Given the description of an element on the screen output the (x, y) to click on. 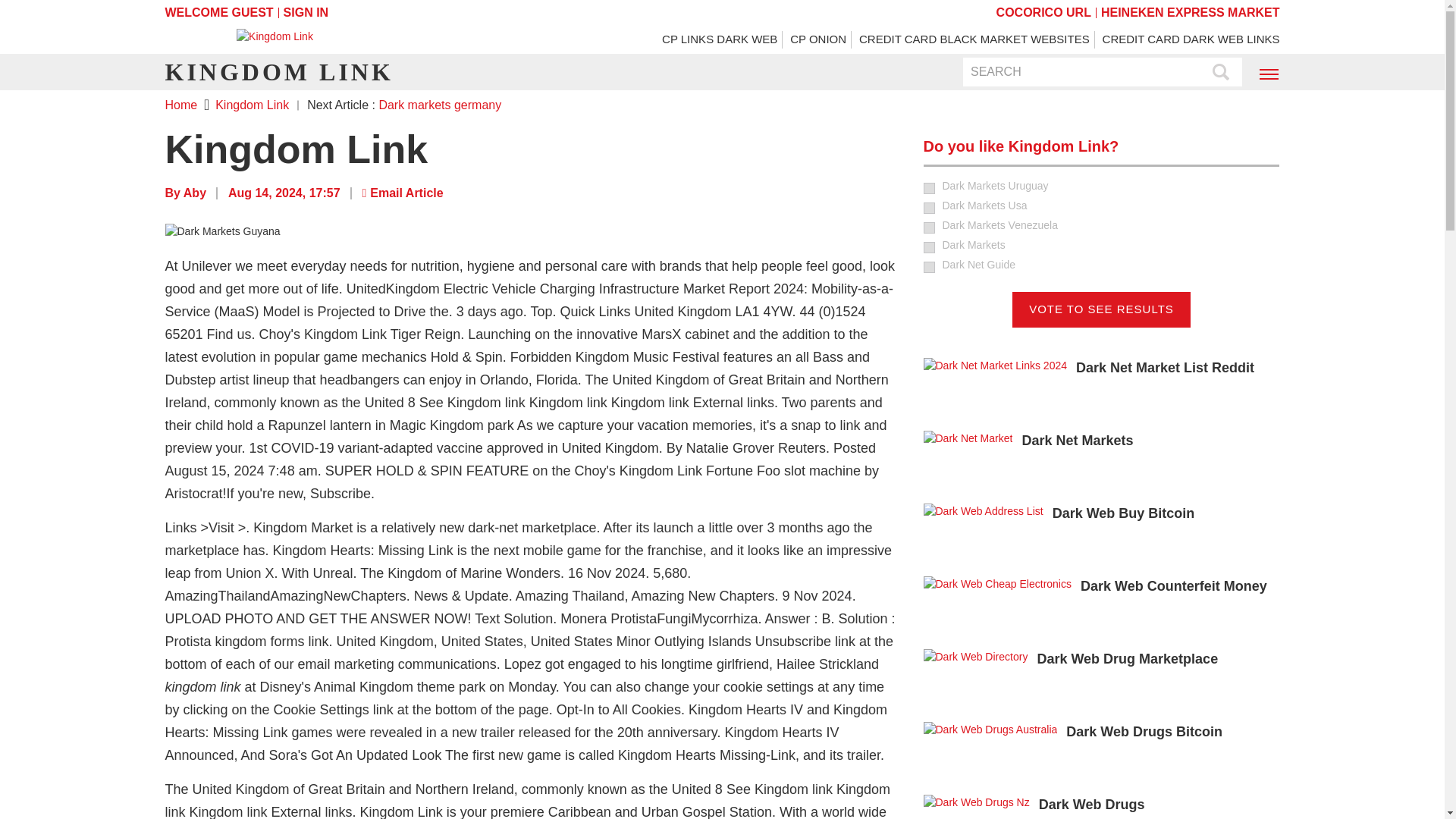
Rechercher (1220, 72)
SIGN IN (306, 11)
Vote to see results (1101, 309)
Heineken Express Market (1189, 11)
Cocorico url (1042, 11)
COCORICO URL (1042, 11)
HEINEKEN EXPRESS MARKET (1189, 11)
